Given the description of an element on the screen output the (x, y) to click on. 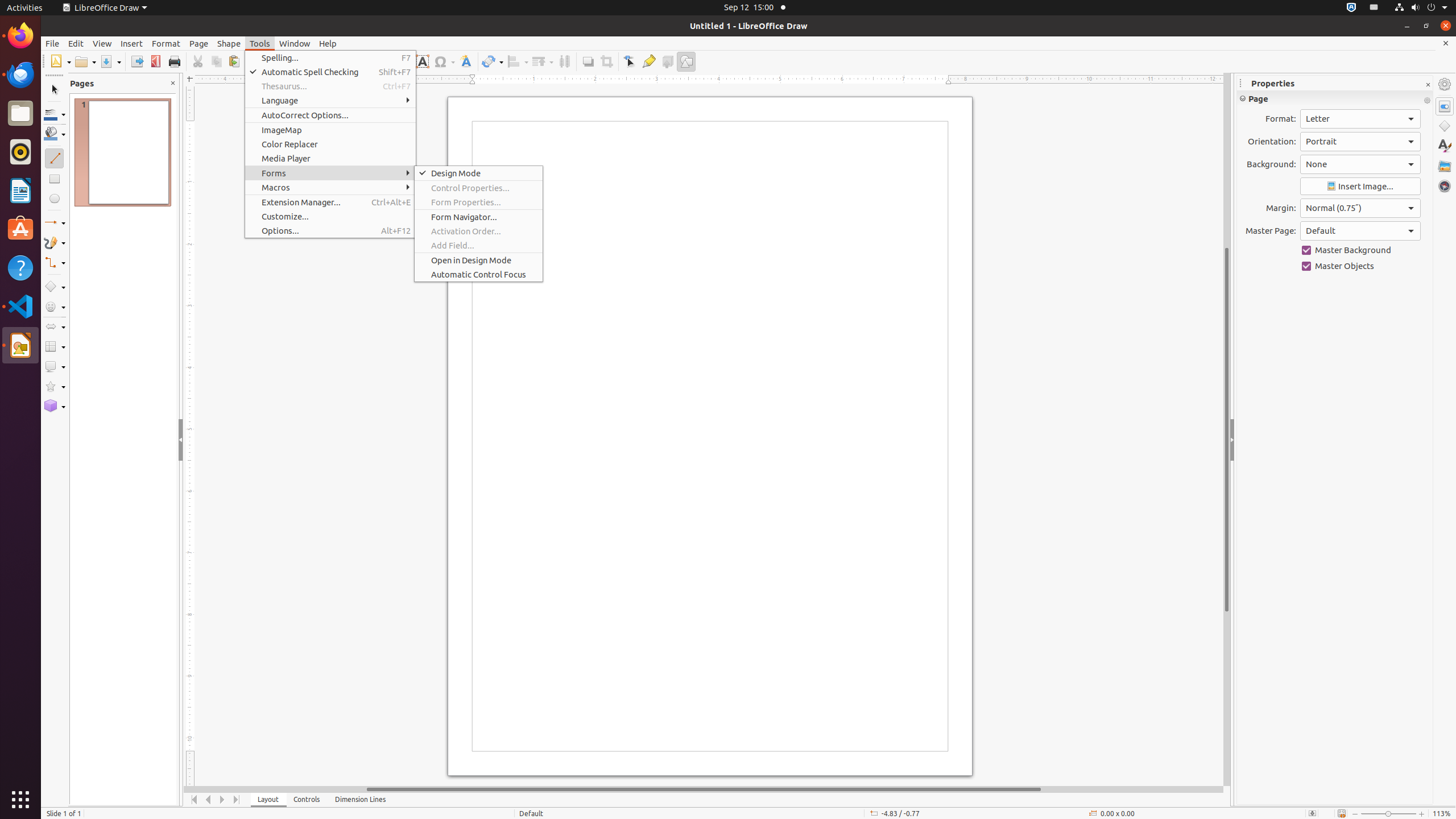
Add Field... Element type: menu-item (478, 245)
Gallery Element type: radio-button (1444, 165)
File Element type: menu (51, 43)
Symbol Element type: push-button (443, 61)
